Given the description of an element on the screen output the (x, y) to click on. 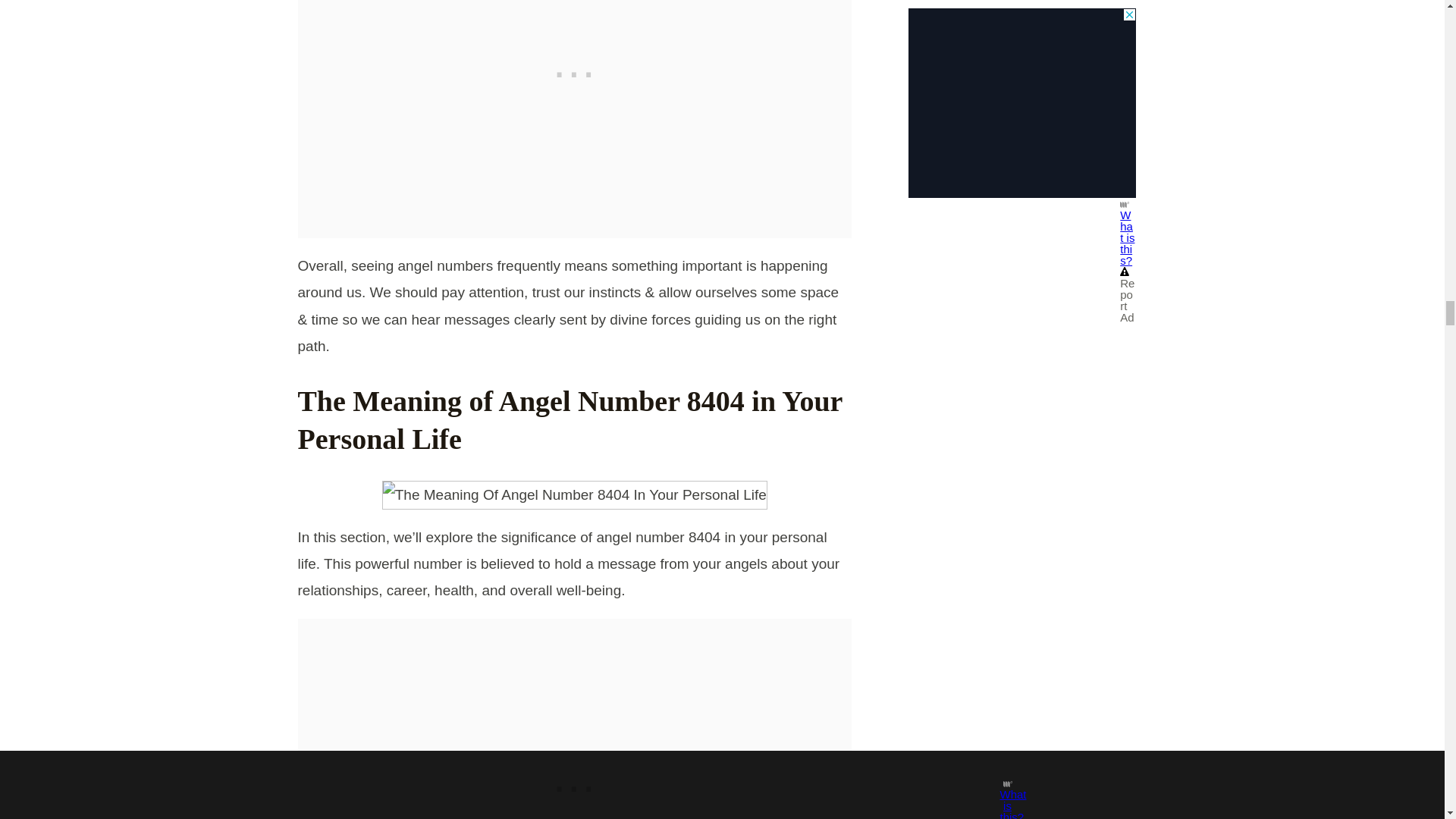
The Meaning Of Angel Number 8404 In Your Personal Life (574, 494)
